Given the description of an element on the screen output the (x, y) to click on. 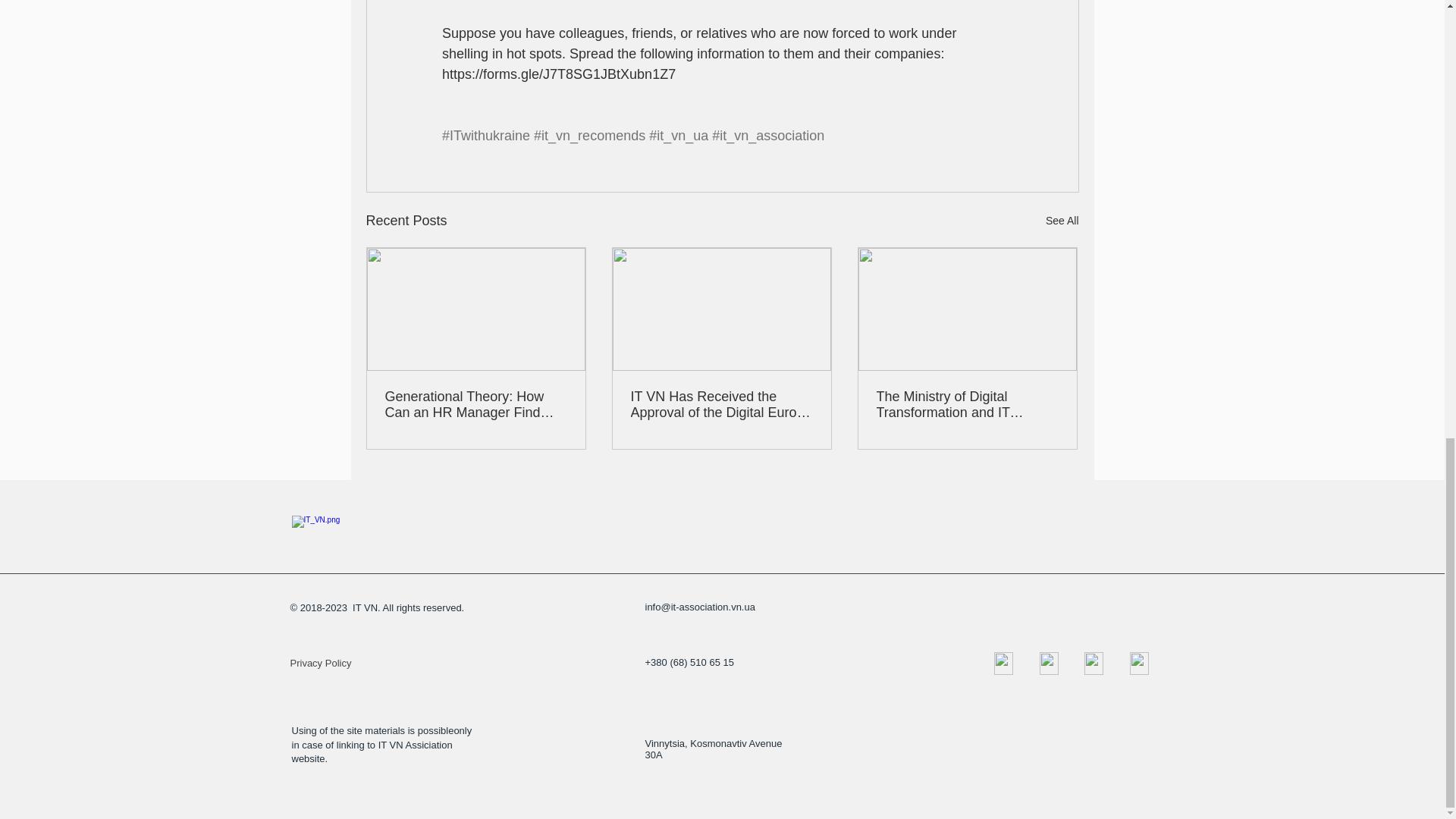
Privacy Policy (325, 663)
See All (1061, 220)
